Given the description of an element on the screen output the (x, y) to click on. 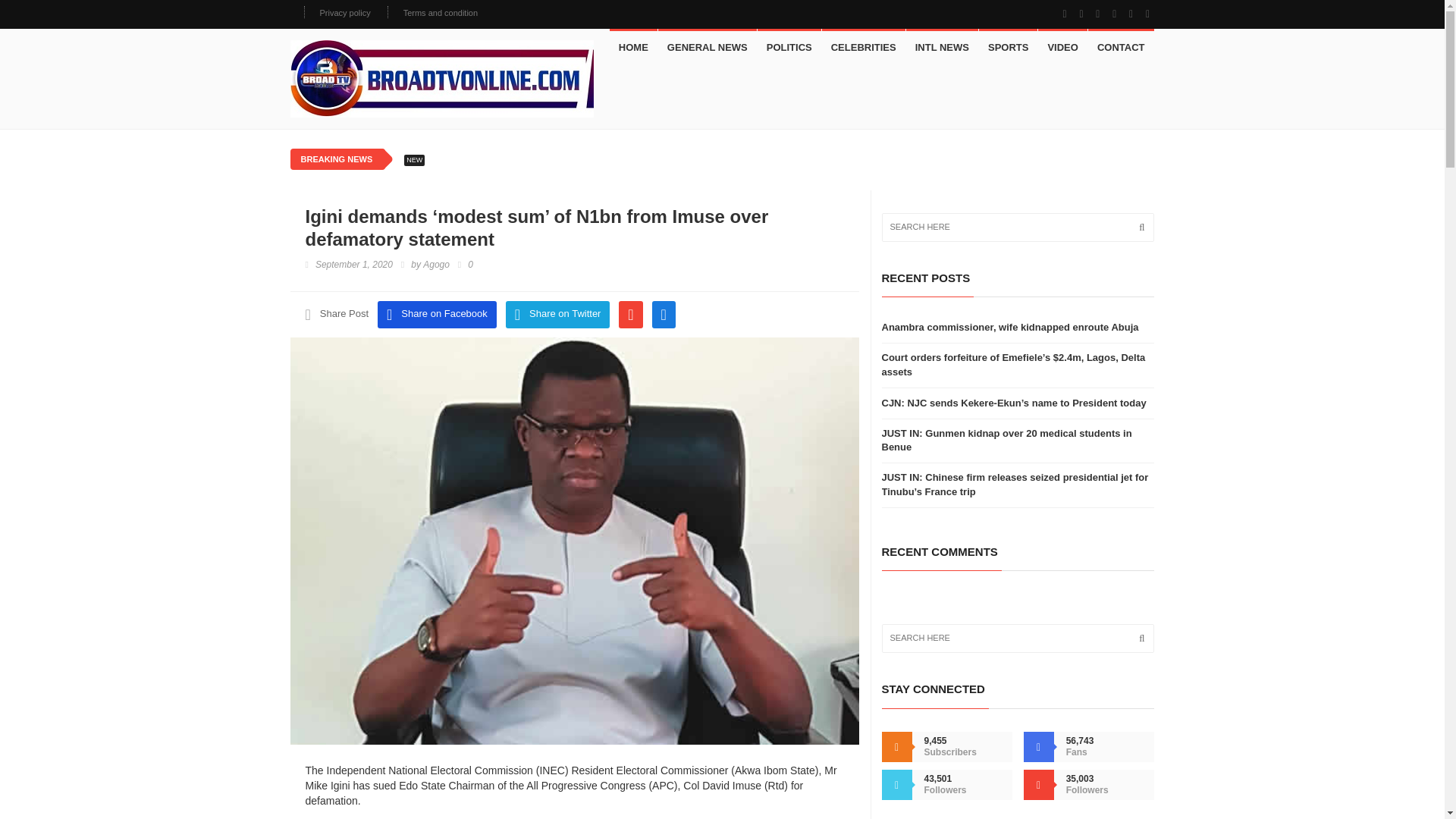
HOME (634, 47)
SPORTS (1007, 47)
Broad TV Online (440, 78)
Share on Twitter (557, 314)
Politics (789, 47)
Terms and condition (440, 12)
0 (465, 264)
GENERAL NEWS (707, 47)
Celebrities (863, 47)
General News (707, 47)
